Given the description of an element on the screen output the (x, y) to click on. 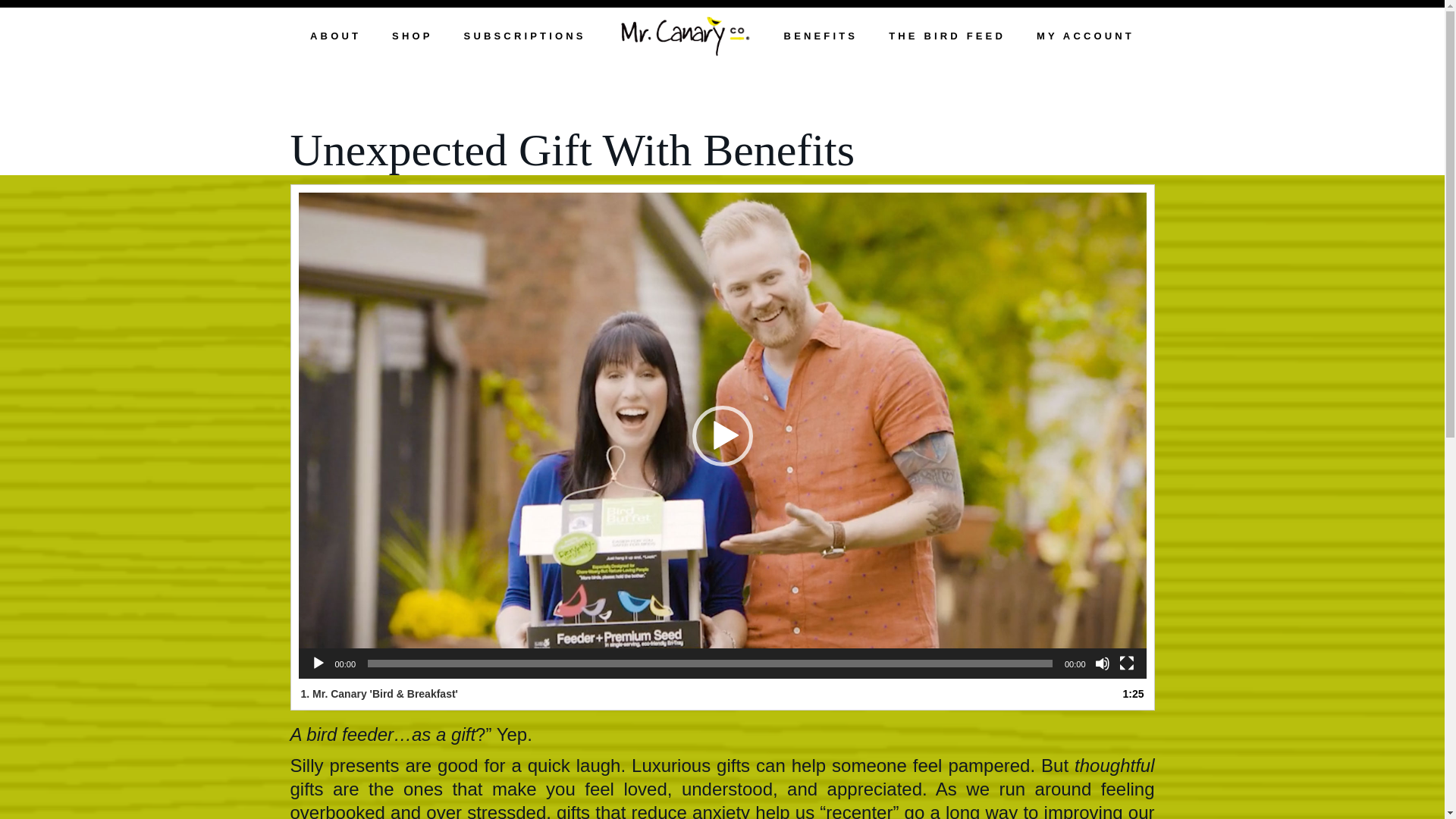
About (335, 37)
Benefits (821, 37)
ABOUT (335, 37)
SHOP (411, 37)
The Bird Feed (947, 37)
Play (318, 663)
Shop (411, 37)
MY ACCOUNT (1085, 37)
Subscriptions (525, 37)
SUBSCRIPTIONS (525, 37)
THE BIRD FEED (947, 37)
Home (684, 37)
HOME (684, 37)
My account (1085, 37)
BENEFITS (821, 37)
